Given the description of an element on the screen output the (x, y) to click on. 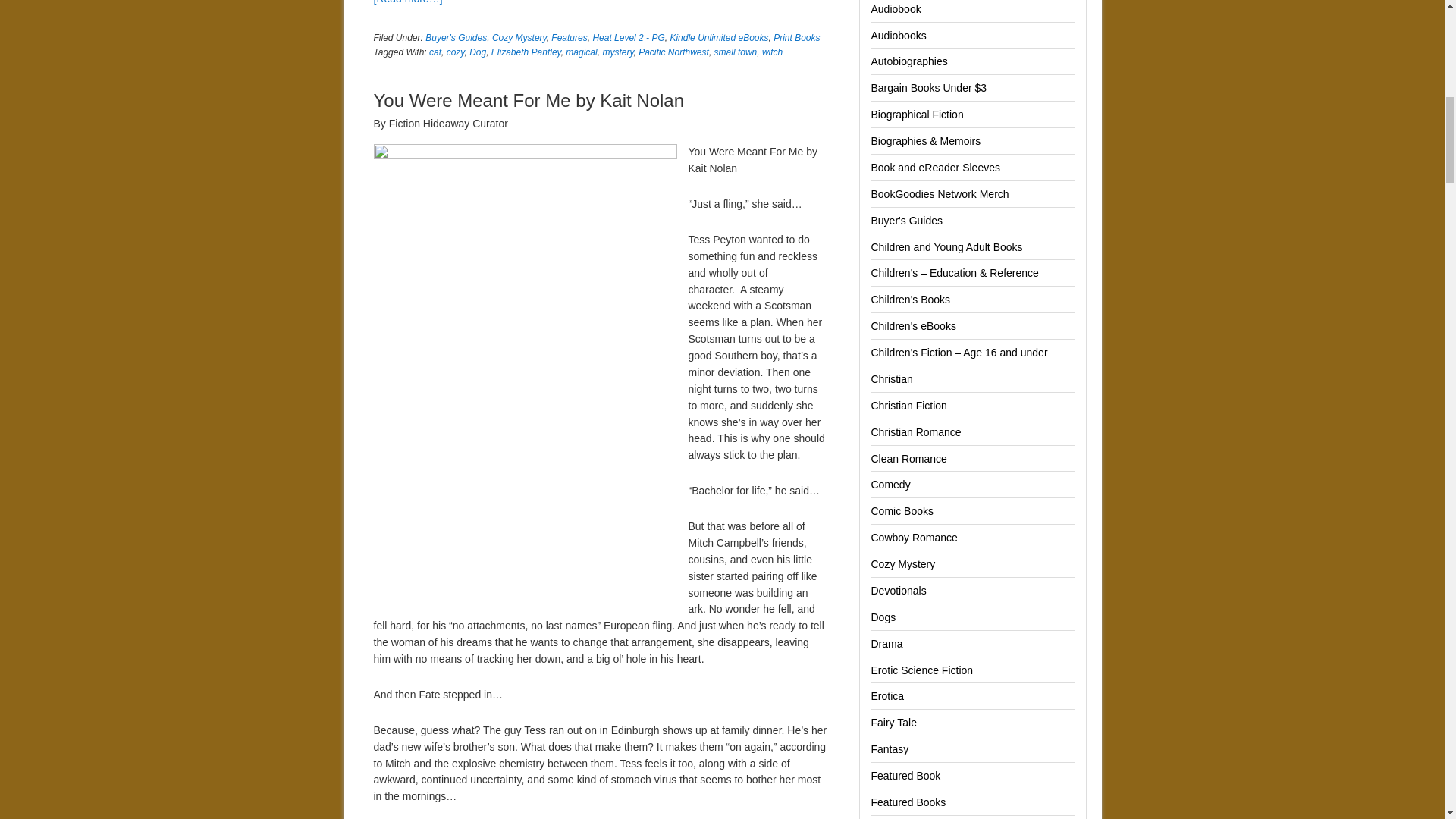
Cozy Mystery (519, 37)
Buyer's Guides (455, 37)
magical (581, 51)
Kindle Unlimited eBooks (718, 37)
Heat Level 2 - PG (627, 37)
Elizabeth Pantley (526, 51)
cat (435, 51)
Features (568, 37)
Print Books (796, 37)
Dog (477, 51)
cozy (455, 51)
